Given the description of an element on the screen output the (x, y) to click on. 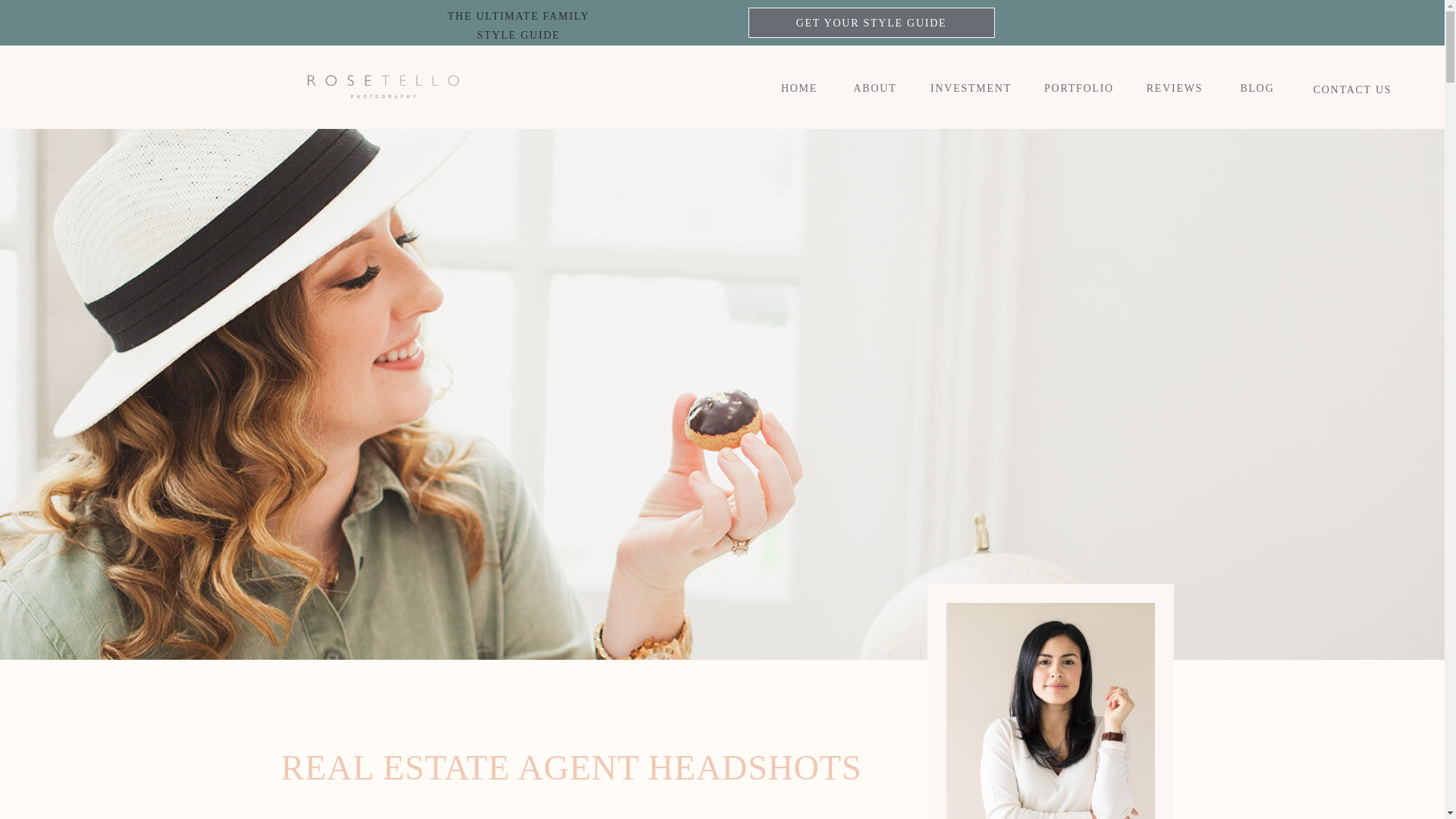
PORTFOLIO (1078, 87)
ABOUT (874, 87)
GET YOUR STYLE GUIDE (871, 22)
REVIEWS (1174, 87)
CONTACT US (1352, 87)
INVESTMENT (517, 22)
HOME (970, 87)
REAL ESTATE AGENT HEADSHOTS (799, 87)
BLOG (1049, 701)
